Given the description of an element on the screen output the (x, y) to click on. 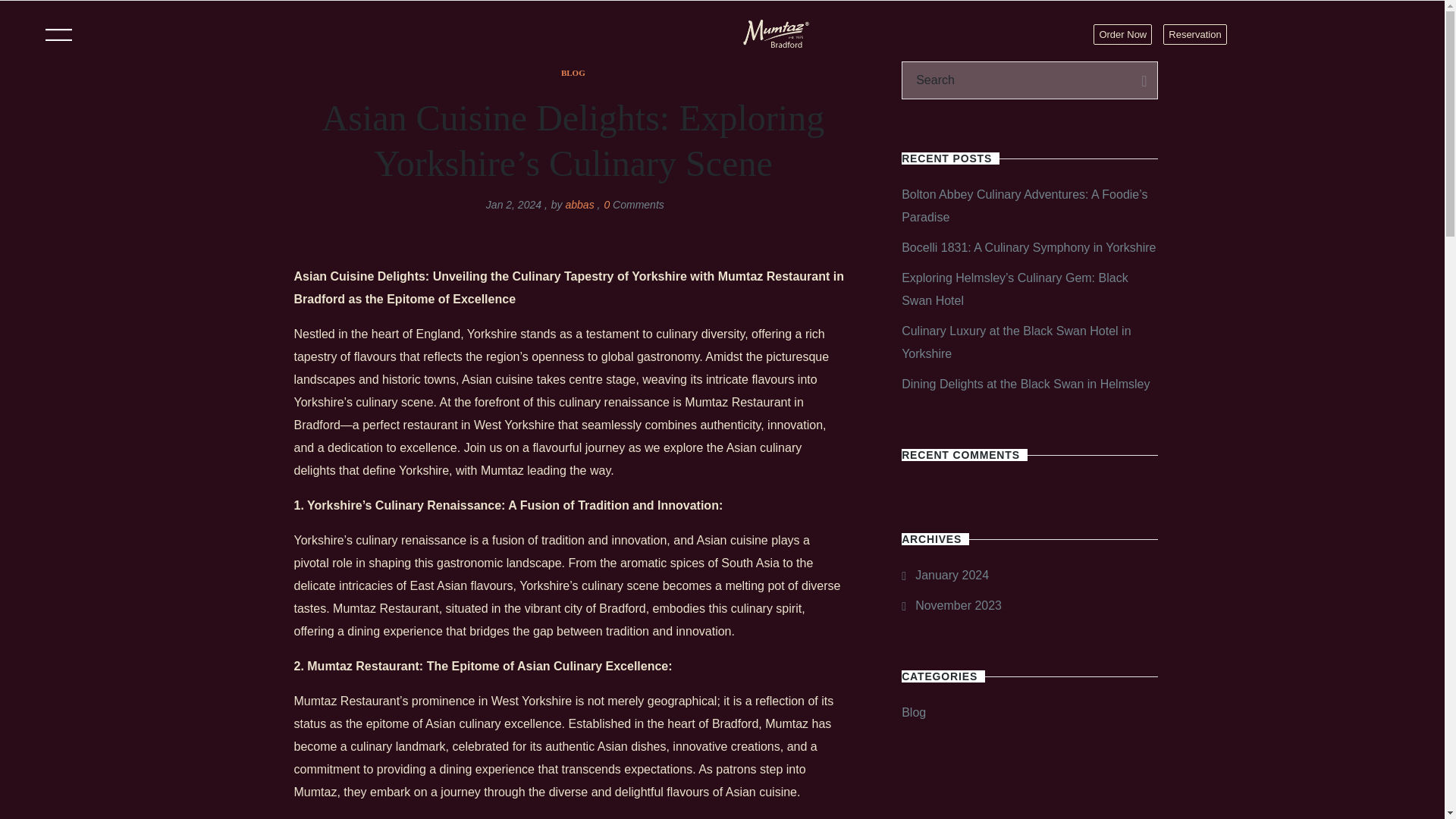
Blog (913, 712)
BLOG (572, 71)
Culinary Luxury at the Black Swan Hotel in Yorkshire (1016, 342)
January 2024 (944, 574)
November 2023 (951, 604)
Bocelli 1831: A Culinary Symphony in Yorkshire (1028, 246)
abbas (579, 204)
Dining Delights at the Black Swan in Helmsley (1025, 383)
